Given the description of an element on the screen output the (x, y) to click on. 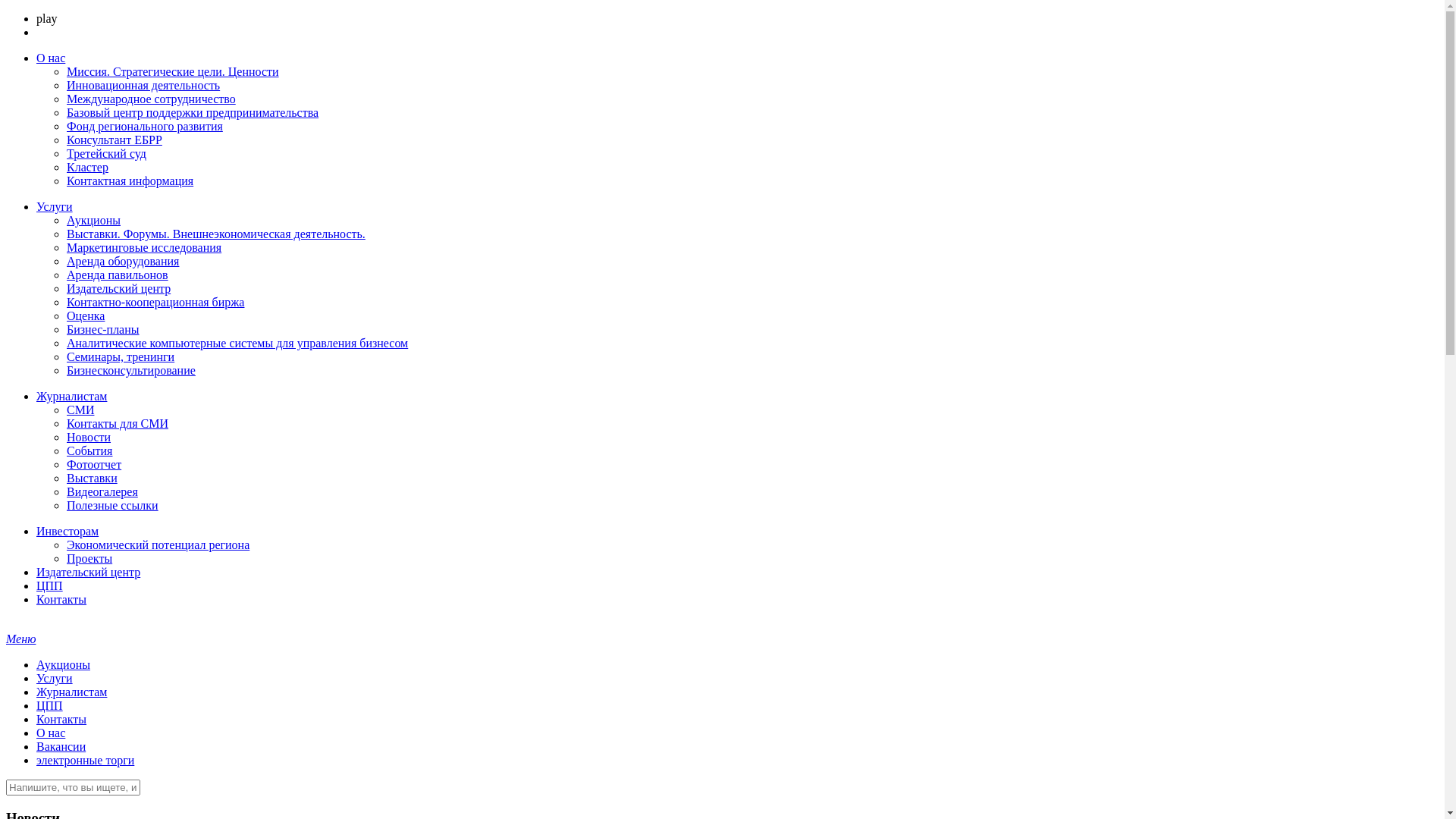
play Element type: text (46, 18)
